Given the description of an element on the screen output the (x, y) to click on. 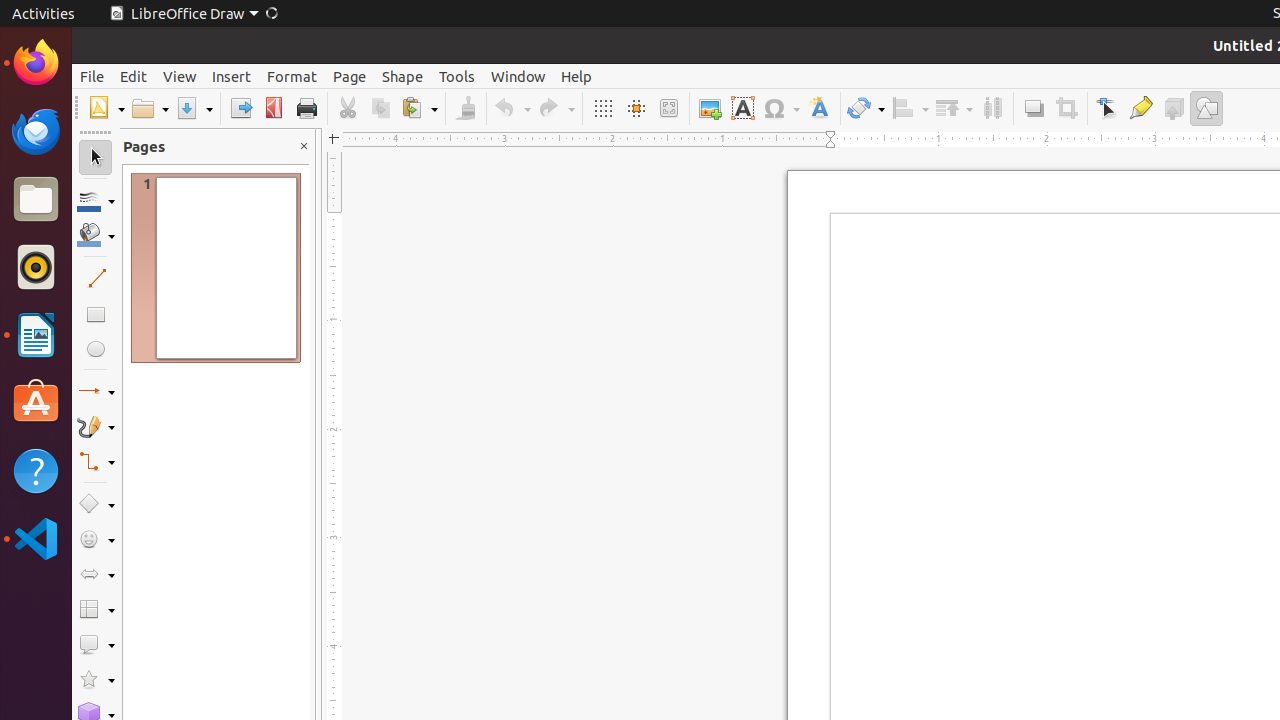
Line Element type: push-button (95, 278)
Edit Element type: menu (133, 76)
Symbol Element type: push-button (781, 108)
Line Color Element type: push-button (96, 200)
